Given the description of an element on the screen output the (x, y) to click on. 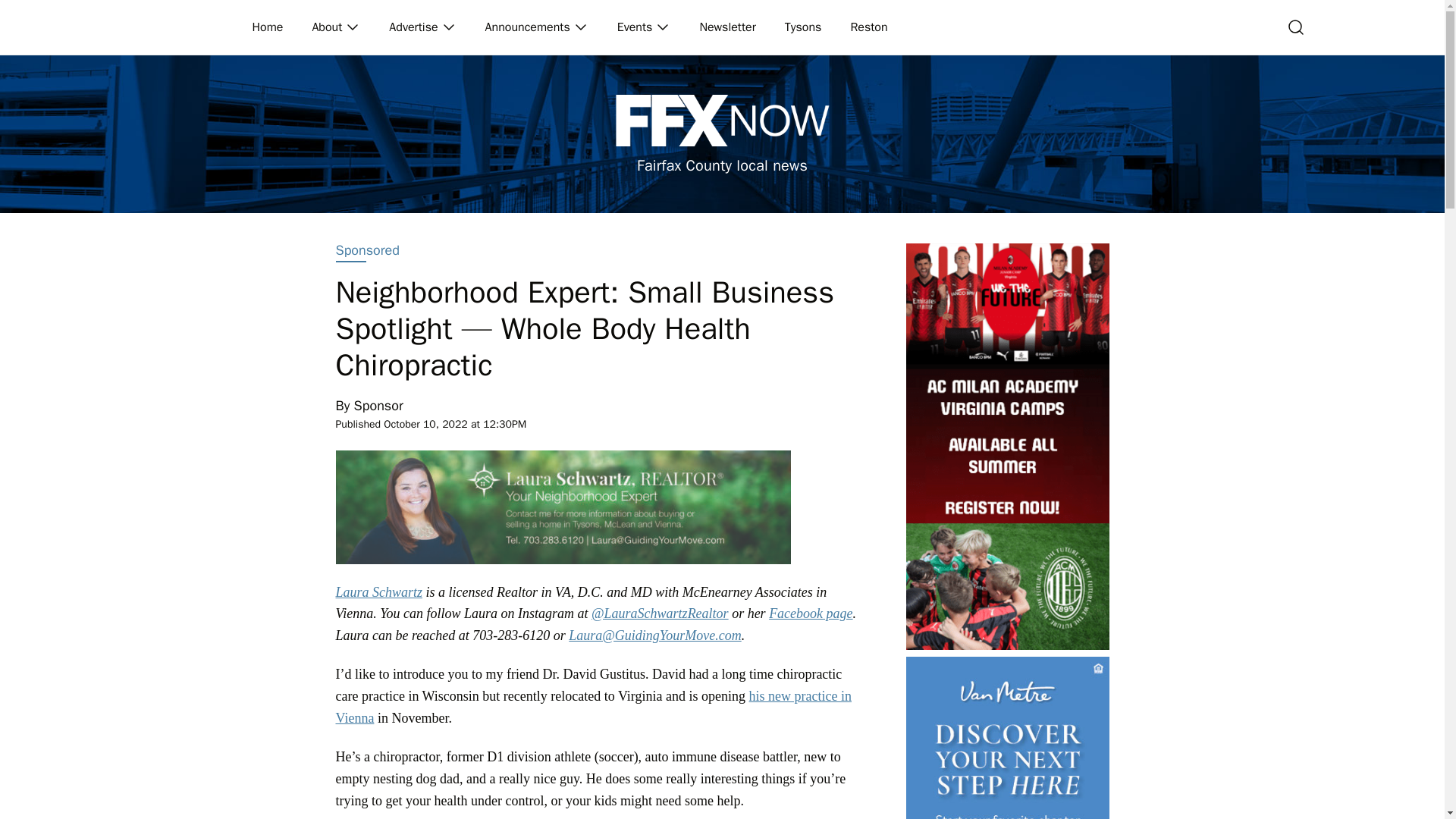
About (327, 27)
Explore Now Streetscape (1006, 737)
Advertise (413, 27)
Home (267, 27)
Announcements (528, 27)
AC Milan Academy Summer Camps (1006, 446)
